Given the description of an element on the screen output the (x, y) to click on. 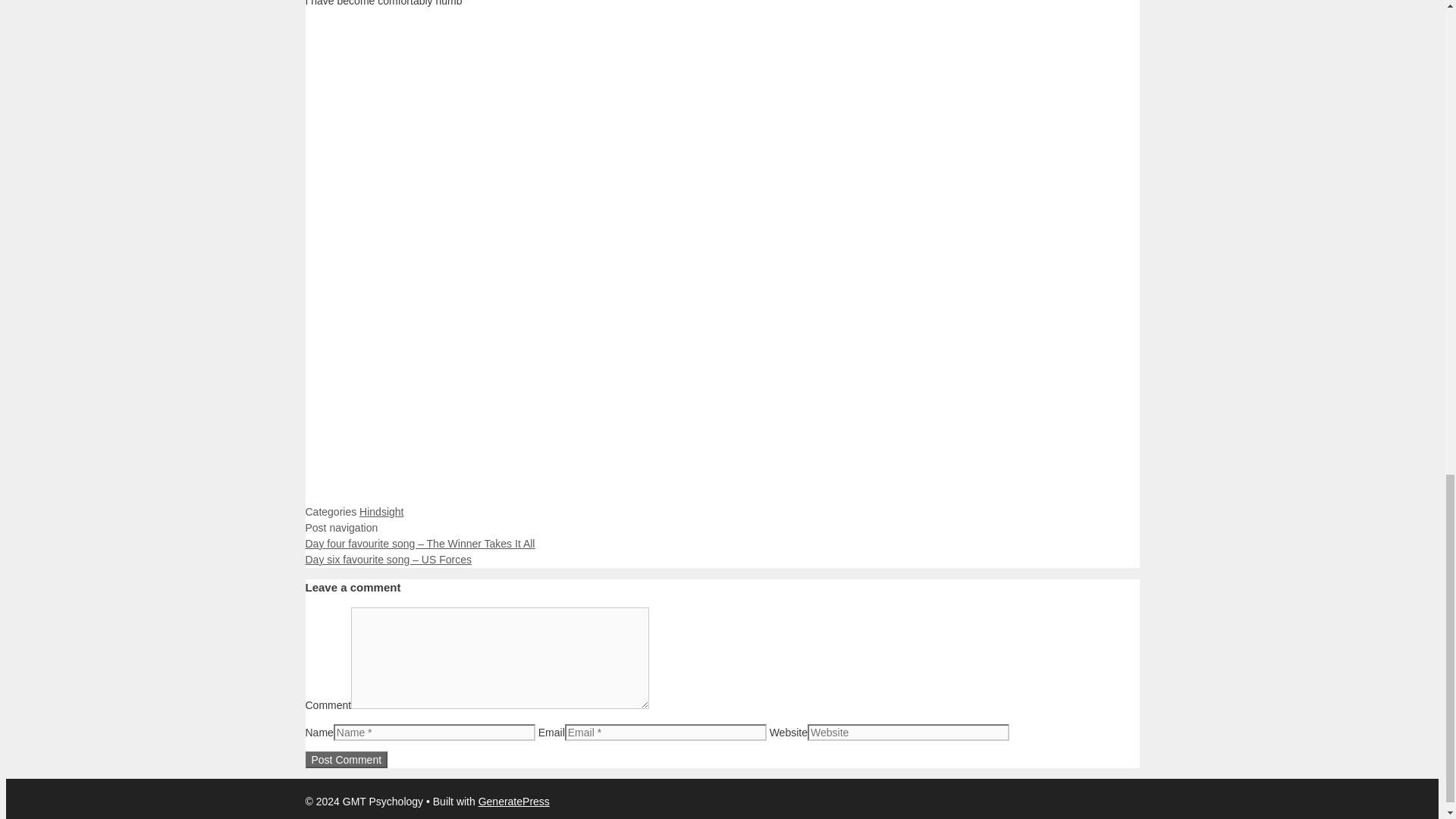
Previous (419, 543)
Post Comment (345, 759)
Post Comment (345, 759)
Next (387, 559)
Hindsight (381, 511)
GeneratePress (514, 801)
